Given the description of an element on the screen output the (x, y) to click on. 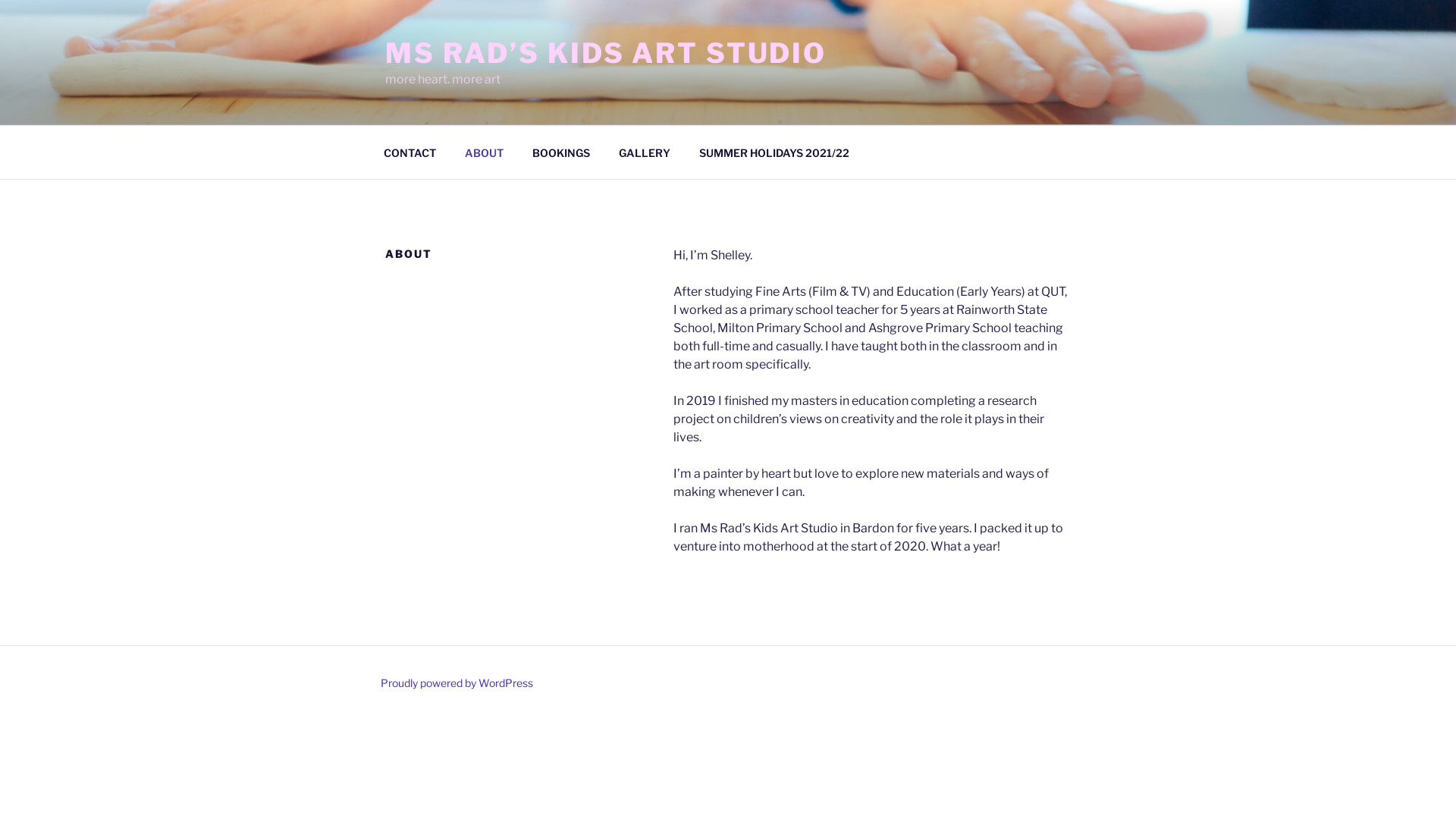
Proudly powered by WordPress Element type: text (456, 682)
Skip to content Element type: text (0, 0)
SUMMER HOLIDAYS 2021/22 Element type: text (773, 151)
GALLERY Element type: text (644, 151)
ABOUT Element type: text (483, 151)
CONTACT Element type: text (409, 151)
BOOKINGS Element type: text (560, 151)
